Given the description of an element on the screen output the (x, y) to click on. 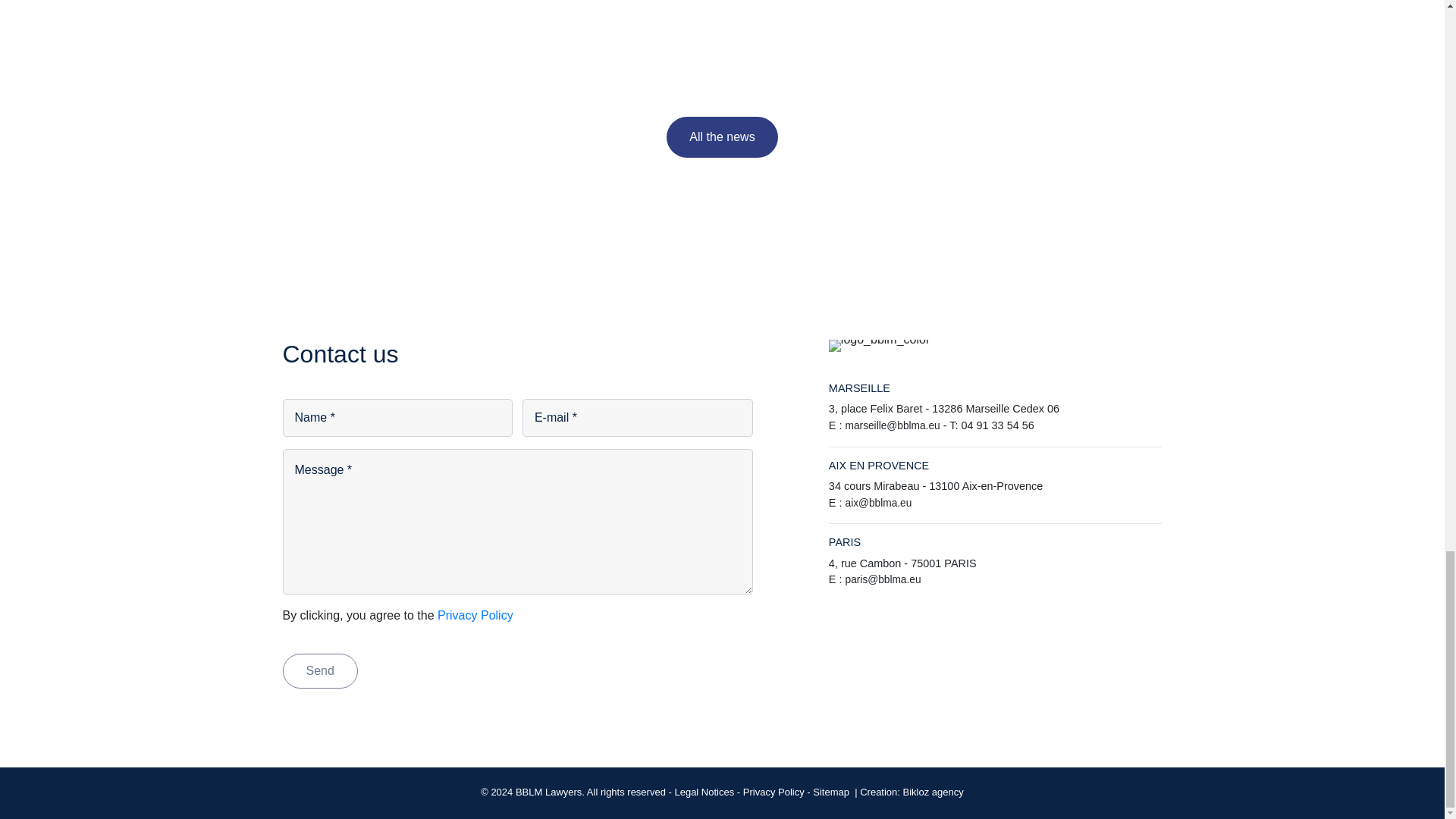
All the news (721, 137)
Privacy Policy (475, 615)
Send (319, 670)
